Given the description of an element on the screen output the (x, y) to click on. 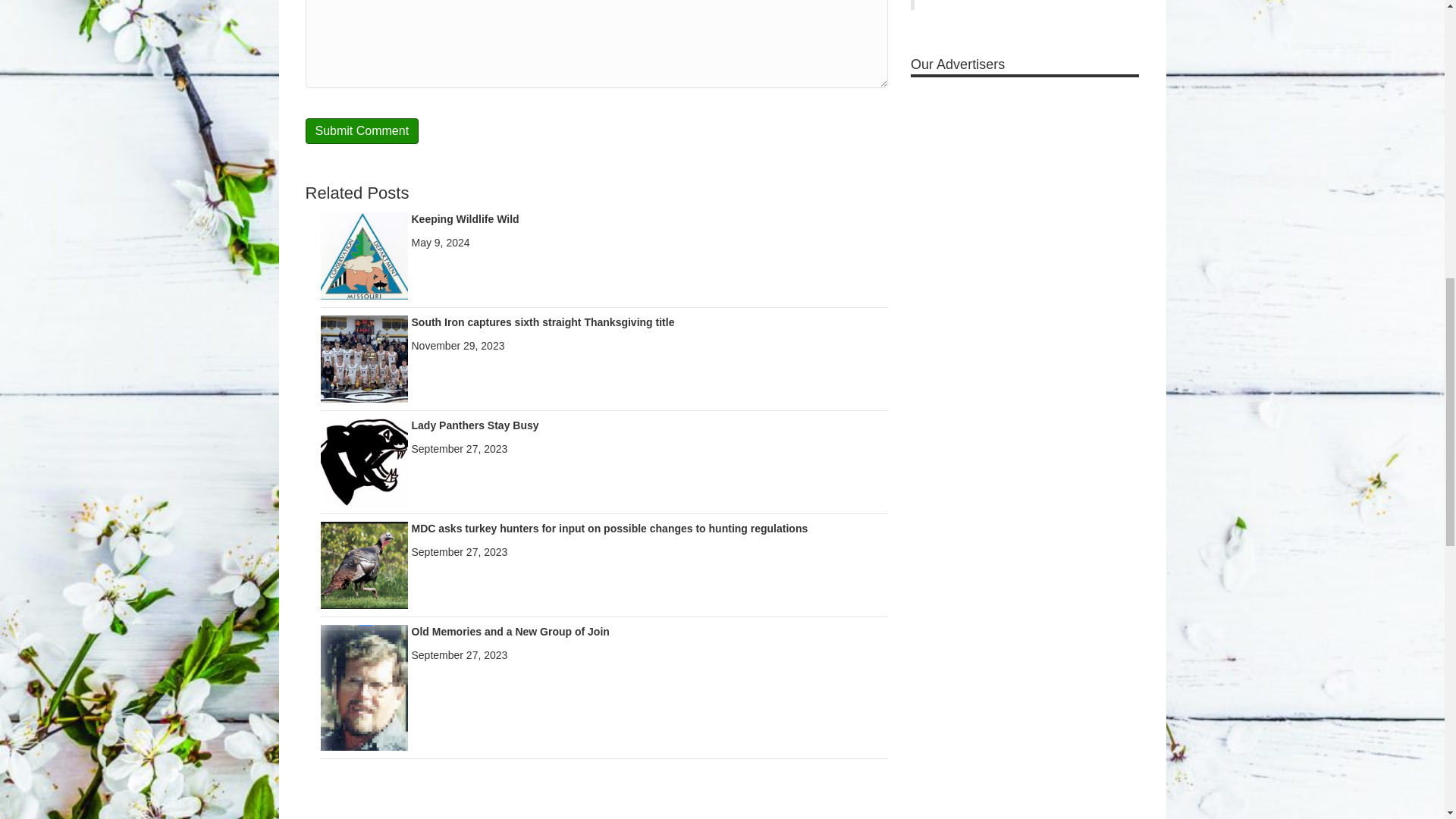
South Iron captures sixth straight Thanksgiving title (542, 322)
Lady Panthers Stay Busy (363, 461)
Old Memories and a New Group of Join (363, 686)
Submit Comment (361, 130)
Keeping Wildlife Wild (363, 255)
Keeping Wildlife Wild (464, 218)
Old Memories and a New Group of Join (509, 631)
Lady Panthers Stay Busy (474, 425)
South Iron captures sixth straight Thanksgiving title (363, 358)
